Given the description of an element on the screen output the (x, y) to click on. 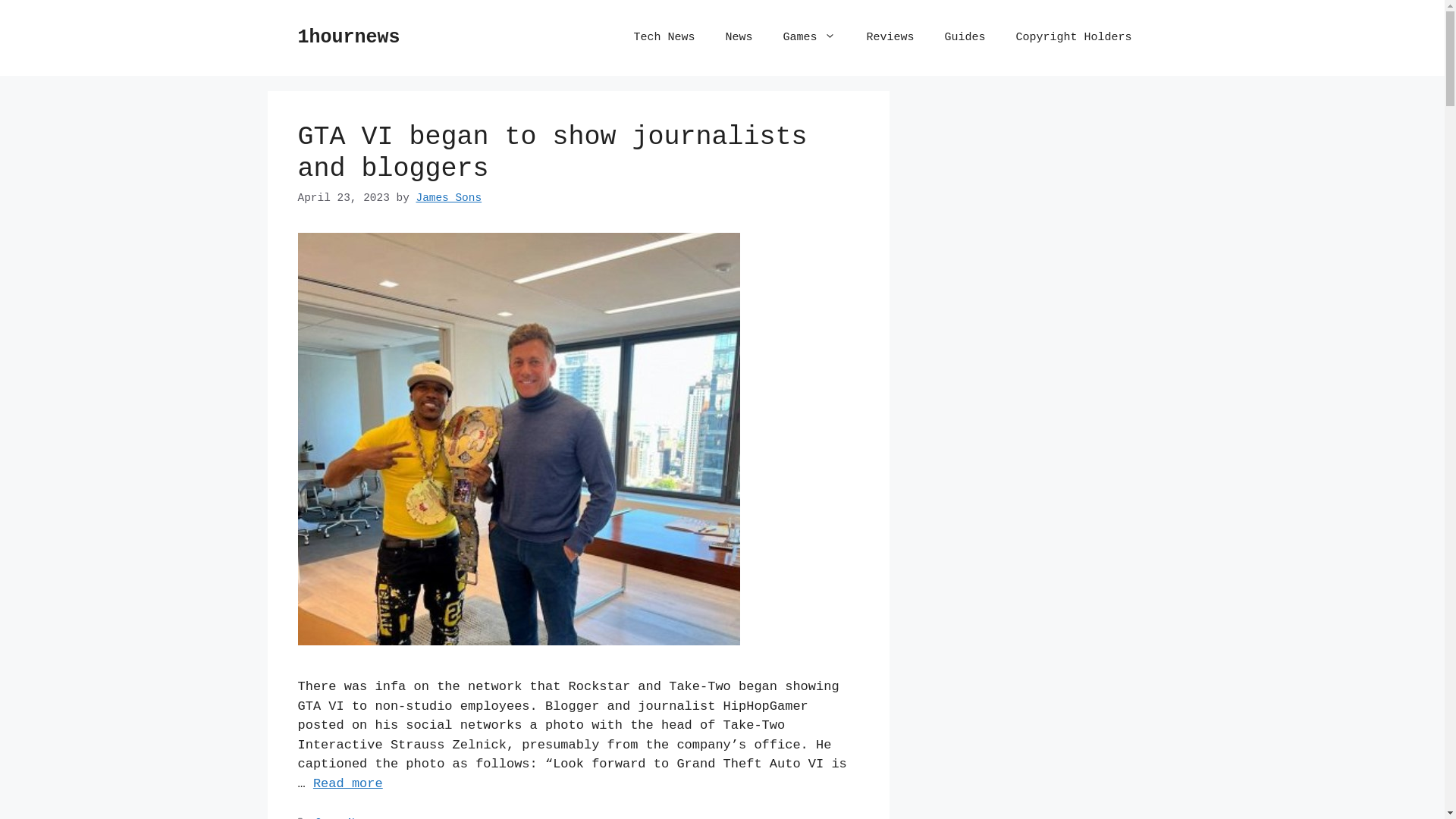
Copyright Holders Element type: text (1073, 37)
Read more Element type: text (347, 783)
Guides Element type: text (964, 37)
Games Element type: text (808, 37)
Tech News Element type: text (663, 37)
GTA VI began to show journalists and bloggers Element type: text (551, 153)
1hournews Element type: text (348, 37)
James Sons Element type: text (448, 197)
Reviews Element type: text (889, 37)
News Element type: text (738, 37)
